Given the description of an element on the screen output the (x, y) to click on. 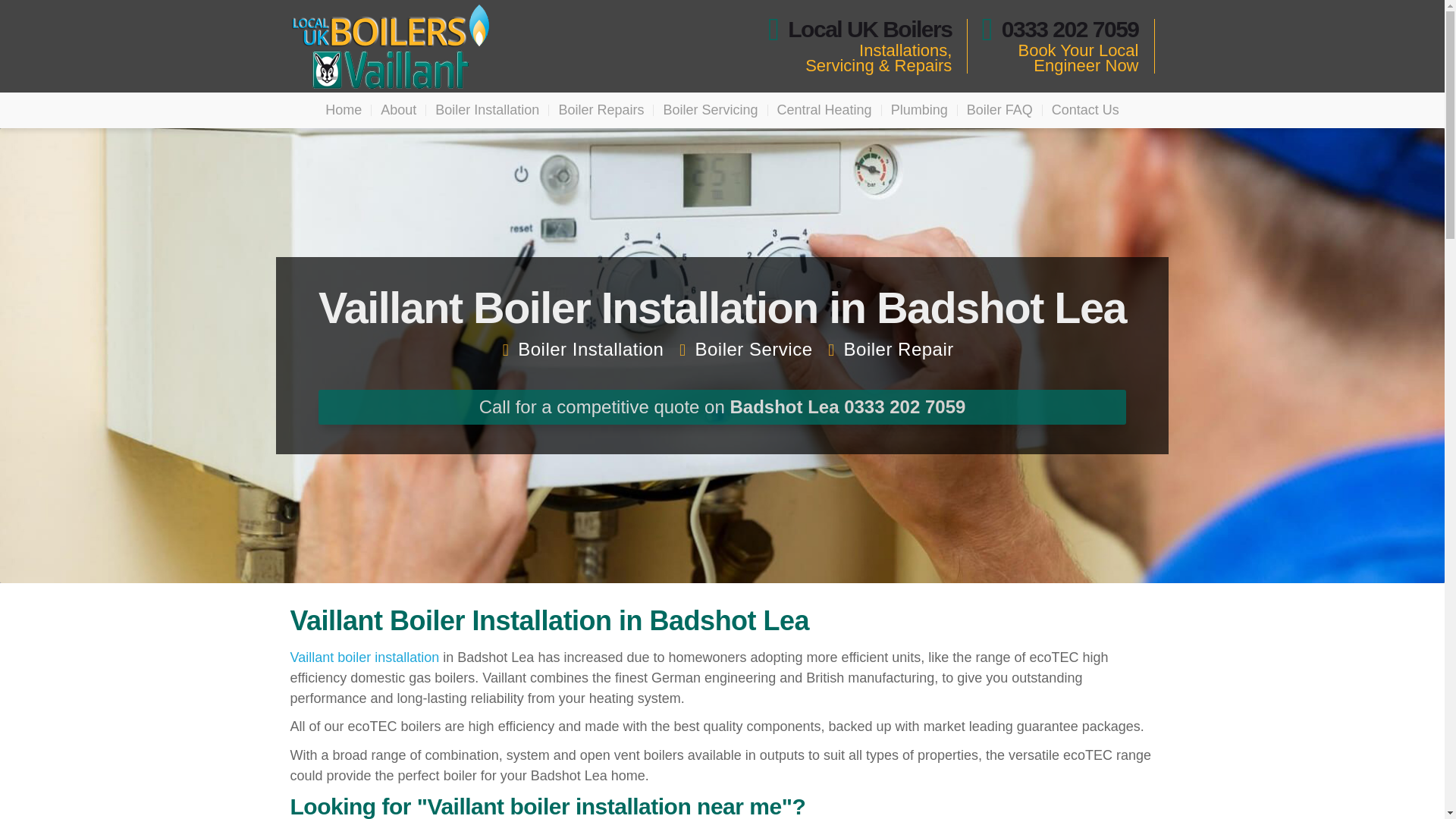
Boiler FAQ (1000, 109)
Local UK Boilers (860, 28)
Vaillant boiler installation (364, 657)
Central Heating (824, 109)
About (397, 109)
Plumbing (919, 109)
Boiler Installation (487, 109)
Contact Us (1084, 109)
0333 202 7059 (1059, 28)
Boiler Repairs (600, 109)
Home (343, 109)
Boiler Servicing (710, 109)
